Given the description of an element on the screen output the (x, y) to click on. 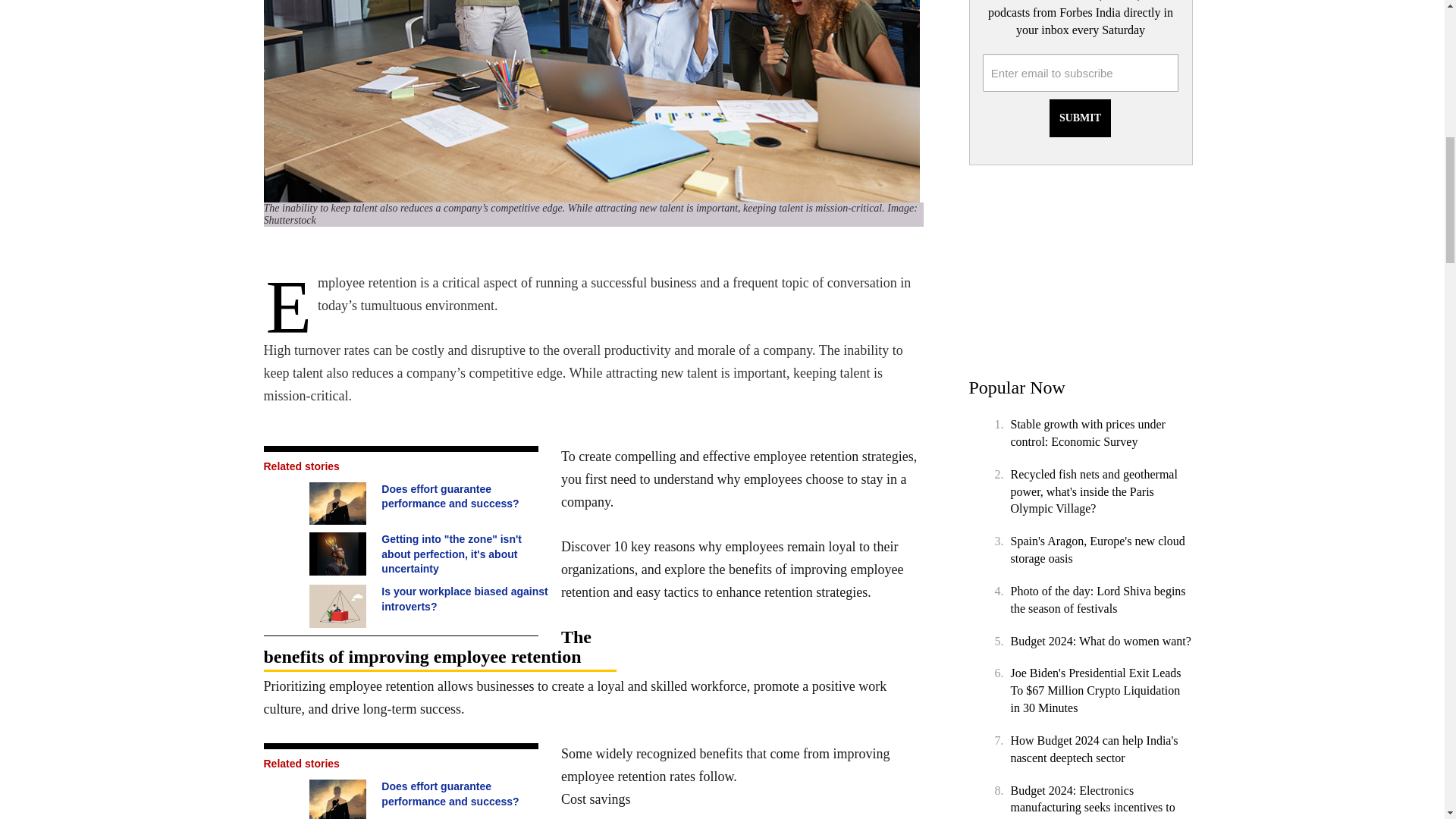
Does effort guarantee performance and success? (339, 503)
Does effort guarantee performance and success? (339, 799)
10 Reasons why employees stay in a company (593, 101)
Is your workplace biased against introverts? (339, 606)
